Given the description of an element on the screen output the (x, y) to click on. 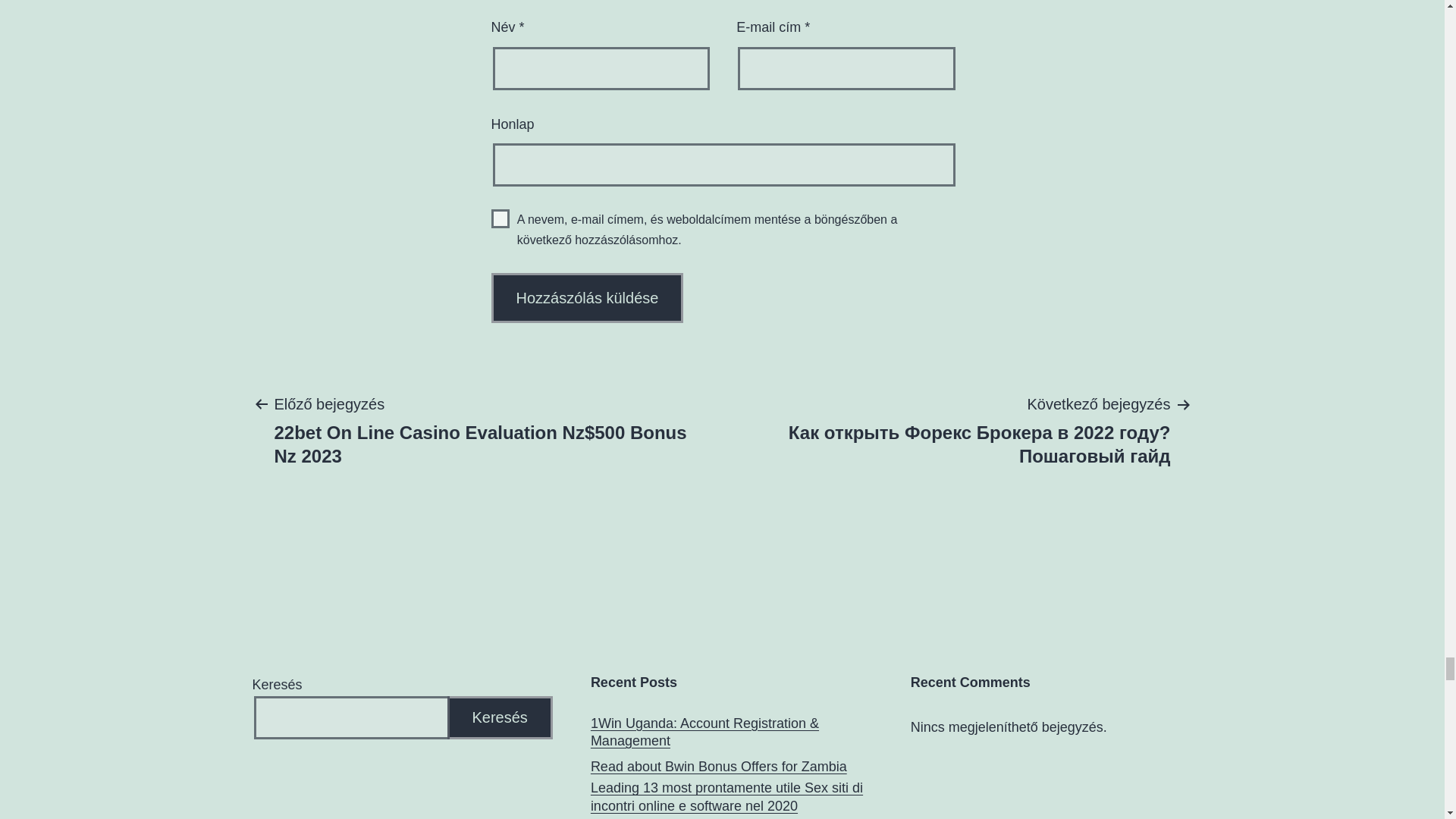
yes (500, 218)
Read about Bwin Bonus Offers for Zambia (719, 766)
